Given the description of an element on the screen output the (x, y) to click on. 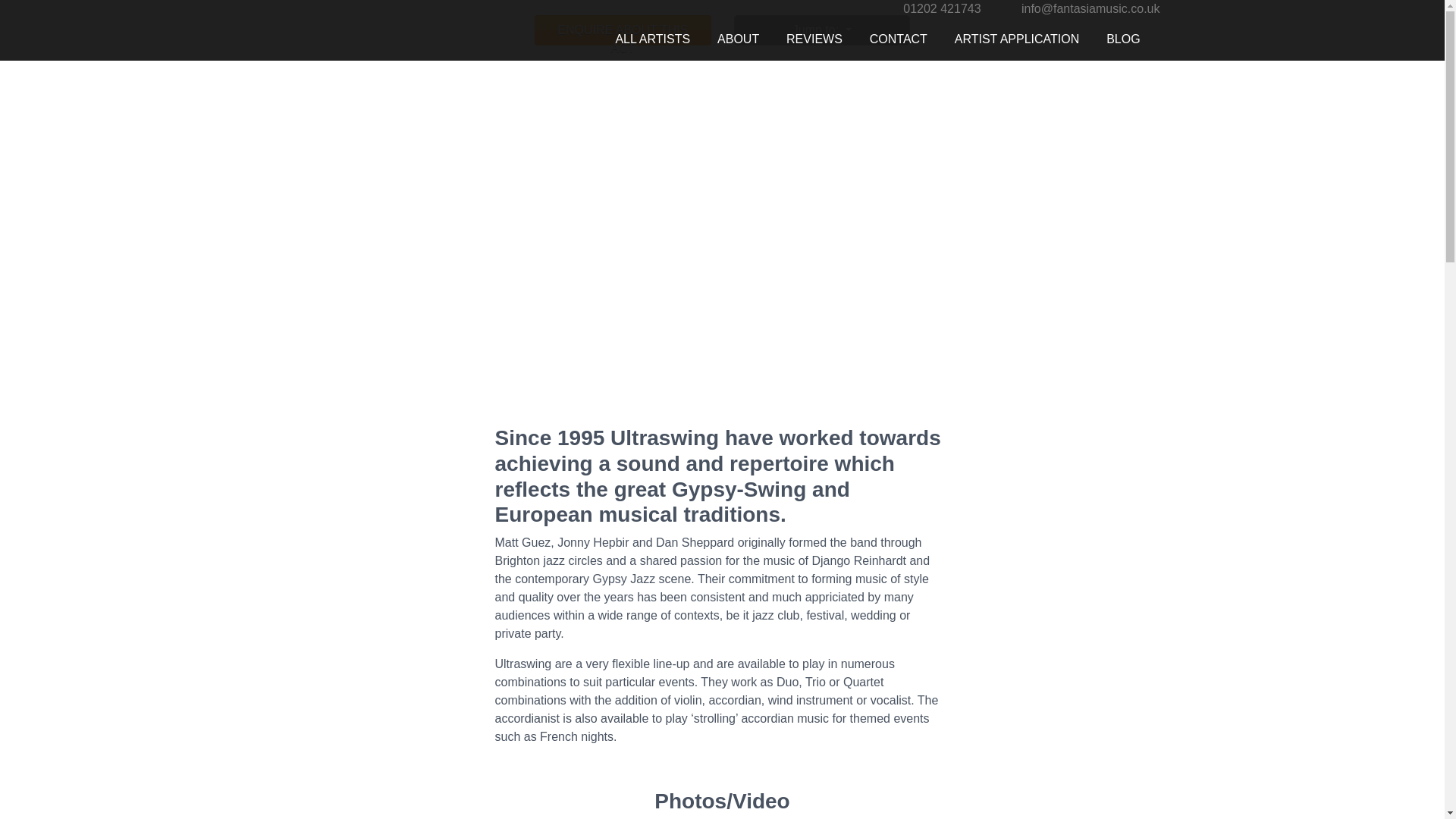
ABOUT (738, 39)
Contact (898, 39)
BLOG (1123, 39)
Jump to: (822, 30)
ARTIST APPLICATION (1016, 39)
01202 421743 (940, 8)
Artist Application (1016, 39)
Reviews (814, 39)
REVIEWS (814, 39)
ALL ARTISTS (652, 39)
CONTACT (898, 39)
All Artists (652, 39)
ENQUIRE ABOUT THIS ACT (622, 30)
About (738, 39)
Blog (1123, 39)
